Given the description of an element on the screen output the (x, y) to click on. 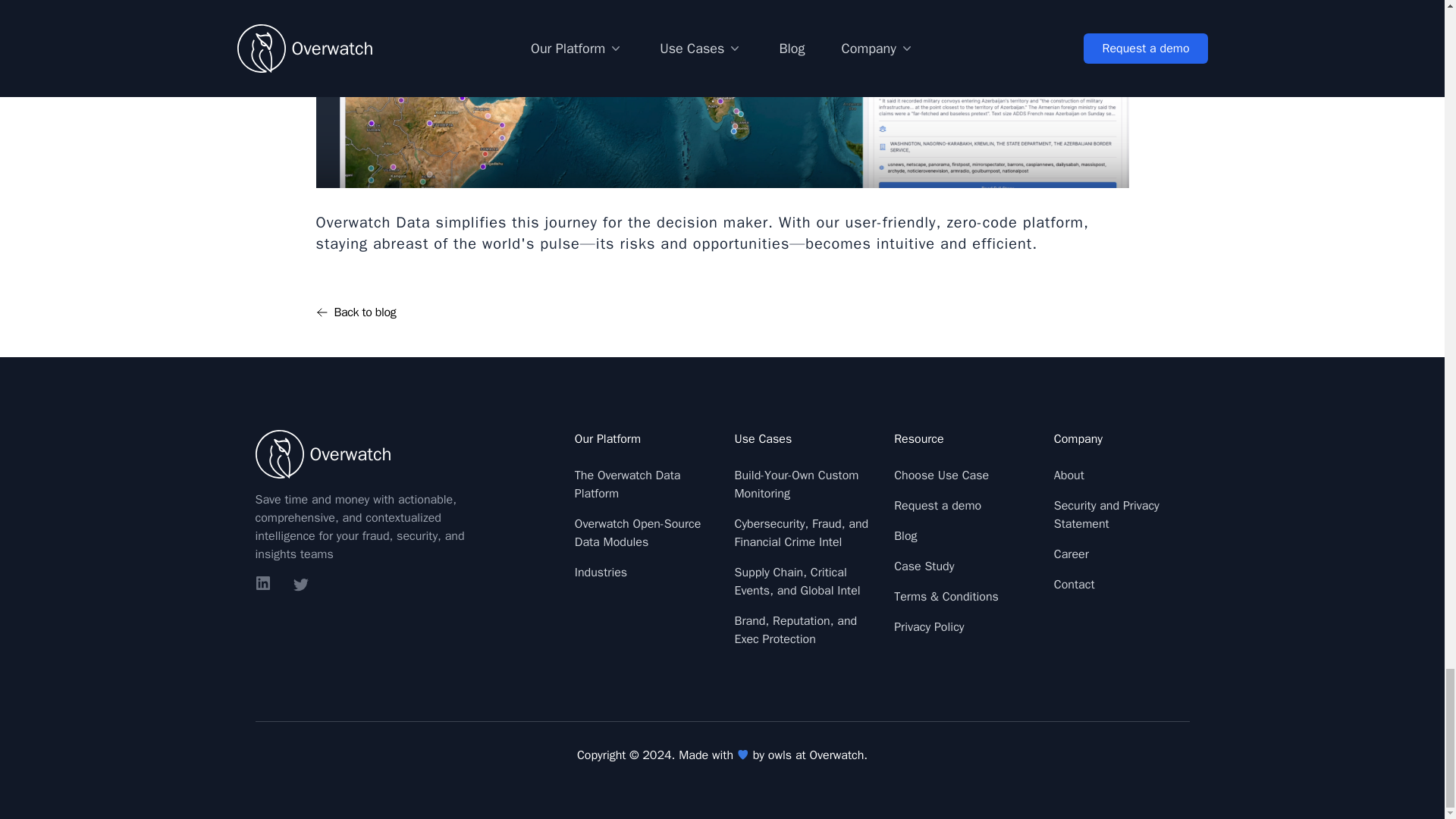
About (1069, 475)
Overwatch (402, 453)
Contact (1074, 584)
Privacy Policy (928, 626)
Overwatch. (838, 754)
Back to blog (355, 312)
Supply Chain, Critical Events, and Global Intel (796, 581)
Choose Use Case (940, 475)
Linkedin (263, 584)
Brand, Reputation, and Exec Protection (795, 630)
